Given the description of an element on the screen output the (x, y) to click on. 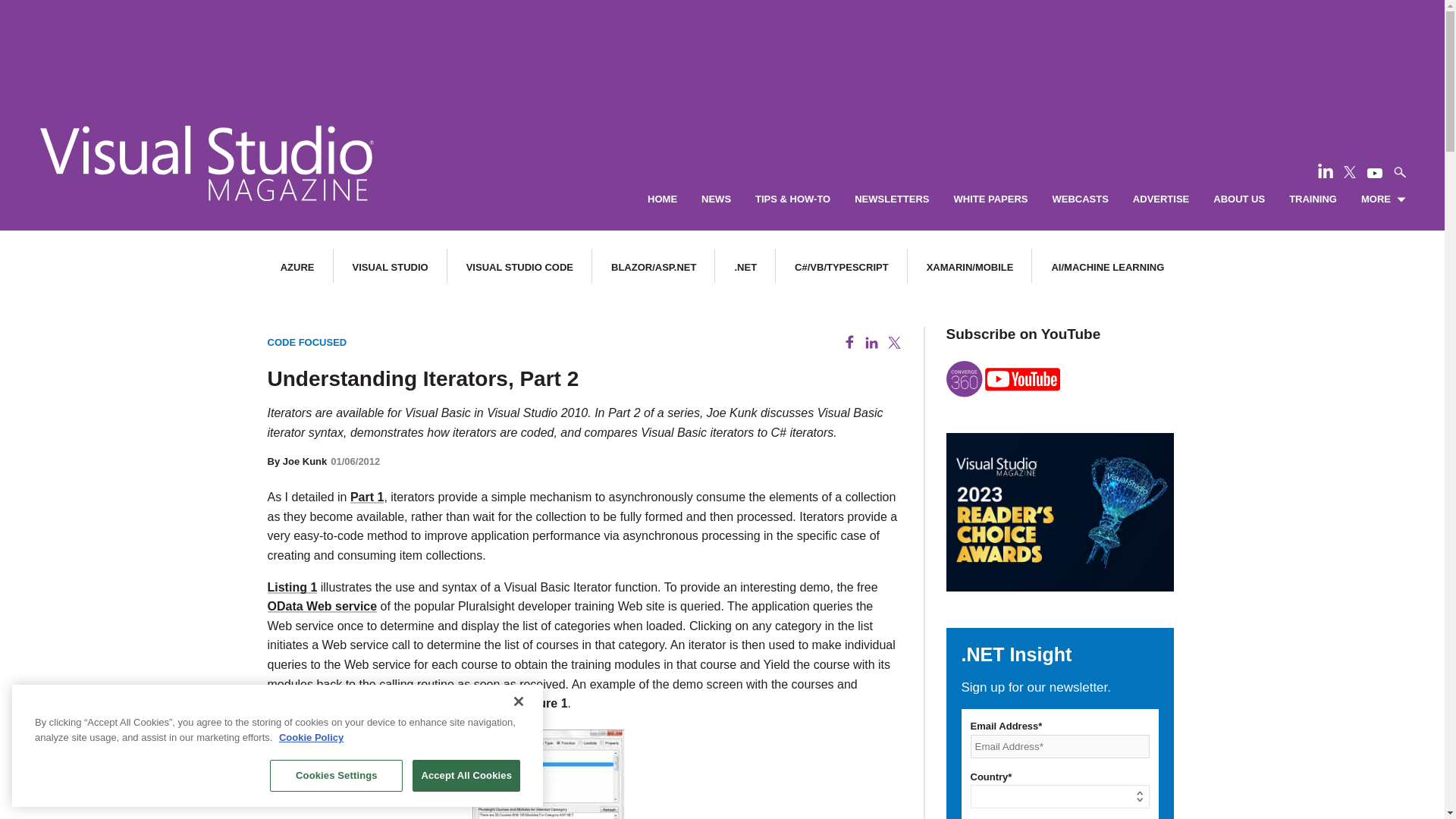
.NET (745, 266)
ADVERTISE (1160, 199)
TRAINING (1312, 199)
WHITE PAPERS (990, 199)
MORE (1383, 199)
NEWS (715, 199)
VISUAL STUDIO (390, 266)
HOME (662, 199)
3rd party ad content (721, 45)
VISUAL STUDIO CODE (519, 266)
ABOUT US (1238, 199)
NEWSLETTERS (891, 199)
WEBCASTS (1079, 199)
AZURE (297, 266)
